Given the description of an element on the screen output the (x, y) to click on. 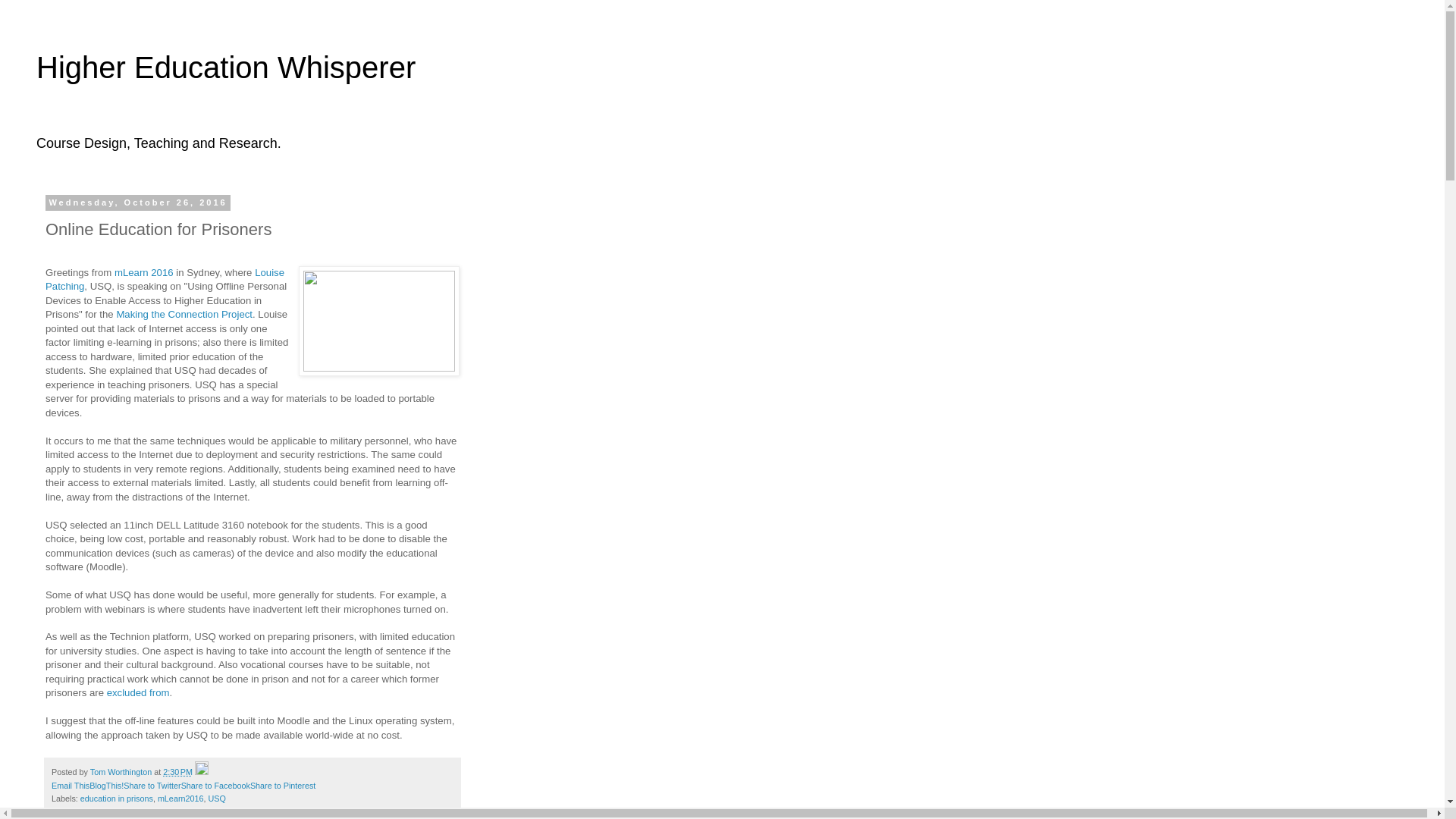
education in prisons (116, 798)
author profile (122, 771)
Edit Post (201, 771)
mLearn 2016 (144, 272)
Higher Education Whisperer (225, 67)
permanent link (177, 771)
Share to Twitter (151, 785)
Making the Connection Project (183, 314)
Email This (69, 785)
BlogThis! (105, 785)
Share to Pinterest (282, 785)
BlogThis! (105, 785)
mLearn2016 (180, 798)
Share to Twitter (151, 785)
